Given the description of an element on the screen output the (x, y) to click on. 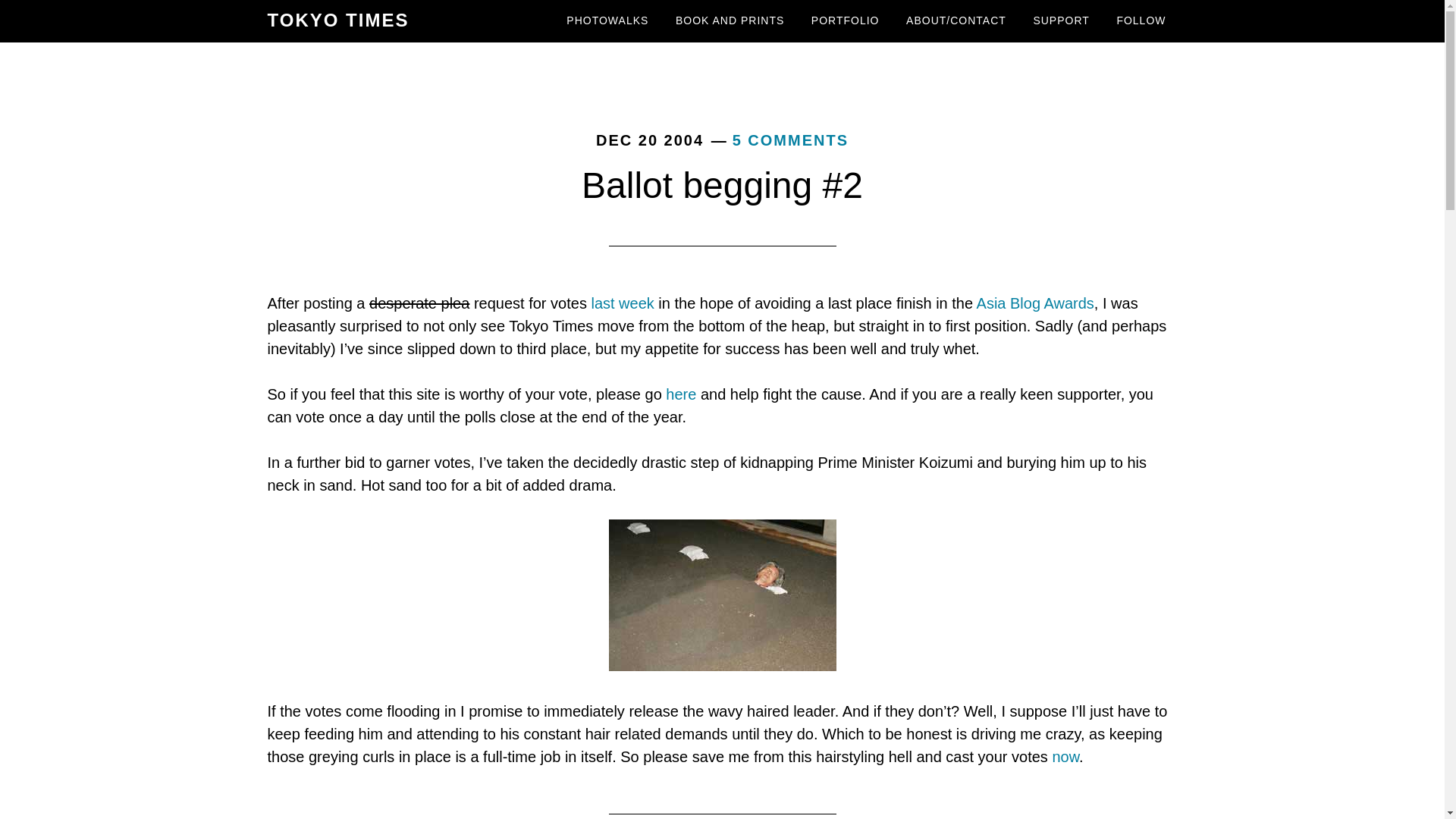
PHOTOWALKS (606, 21)
now (1064, 756)
here (680, 393)
Asia Blog Awards (1035, 303)
last week (622, 303)
BOOK AND PRINTS (728, 21)
PORTFOLIO (845, 21)
TOKYO TIMES (337, 19)
FOLLOW (1140, 21)
5 COMMENTS (790, 139)
